Given the description of an element on the screen output the (x, y) to click on. 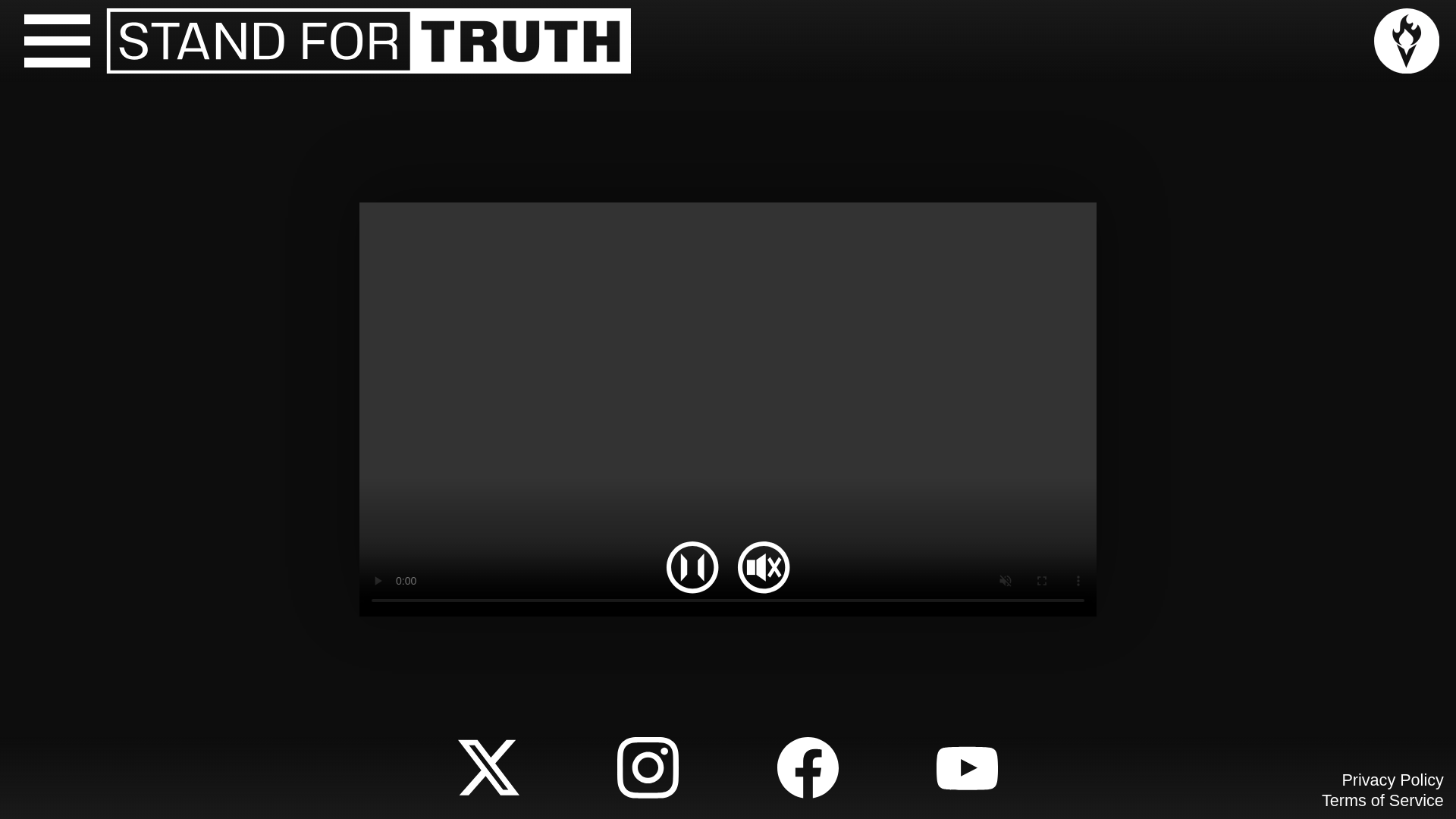
Privacy Policy (1391, 780)
Terms of Service (1383, 800)
